Given the description of an element on the screen output the (x, y) to click on. 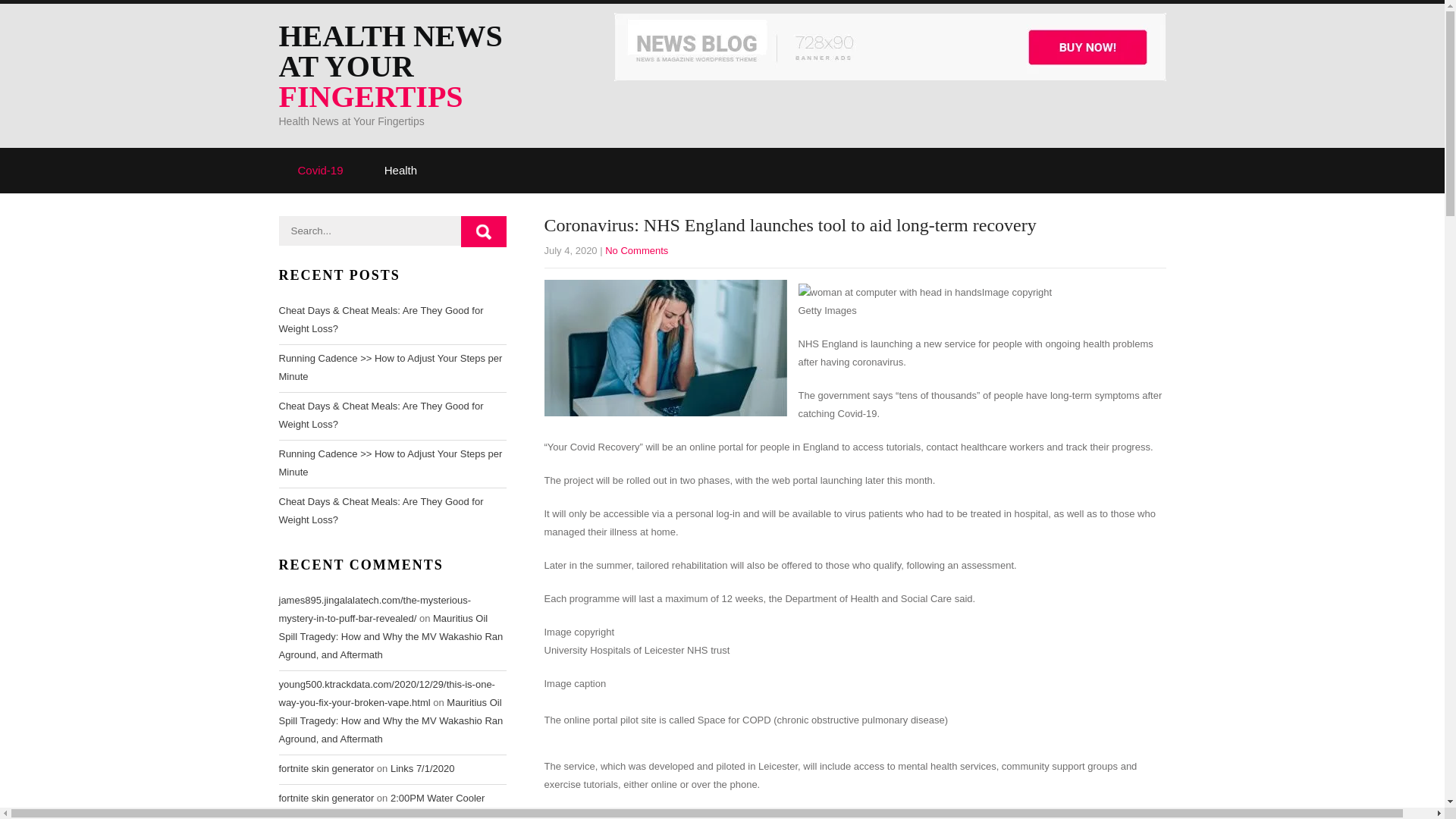
No Comments (636, 250)
Search (483, 231)
Search (483, 231)
Health (400, 170)
fortnite skin generator (326, 767)
fortnite skin generator (326, 797)
Search (483, 231)
HEALTH NEWS AT YOUR FINGERTIPS (411, 66)
